Given the description of an element on the screen output the (x, y) to click on. 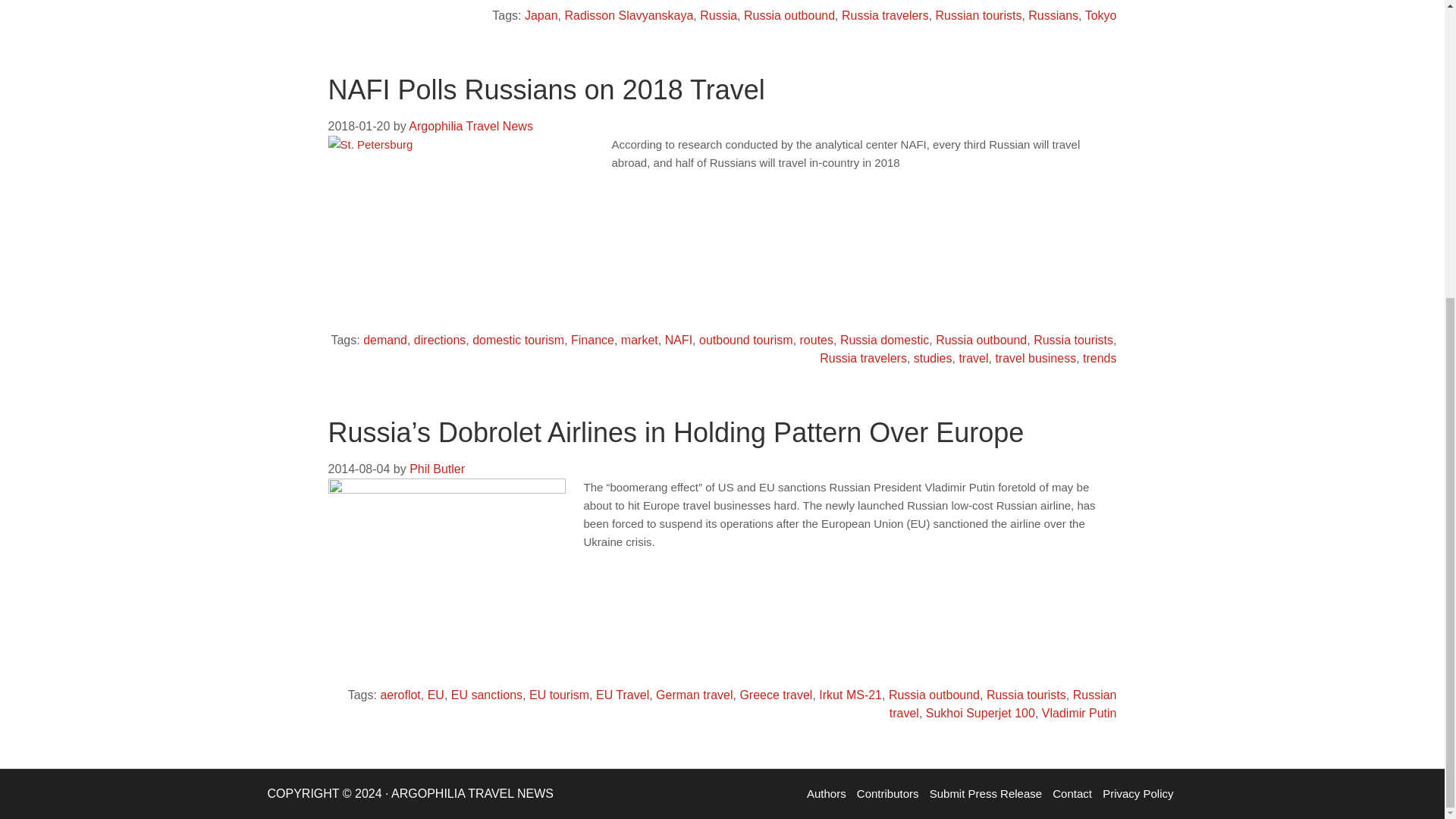
outbound tourism (745, 339)
Russian tourists (979, 15)
NAFI (679, 339)
Argophilia Travel News (470, 125)
Radisson Slavyanskaya (628, 15)
Finance (592, 339)
travel (973, 358)
Japan (540, 15)
Authors (826, 793)
Russia travelers (863, 358)
Russians (1052, 15)
NAFI Polls Russians on 2018 Travel (545, 89)
Russia tourists (1073, 339)
domestic tourism (517, 339)
Tokyo (1100, 15)
